Given the description of an element on the screen output the (x, y) to click on. 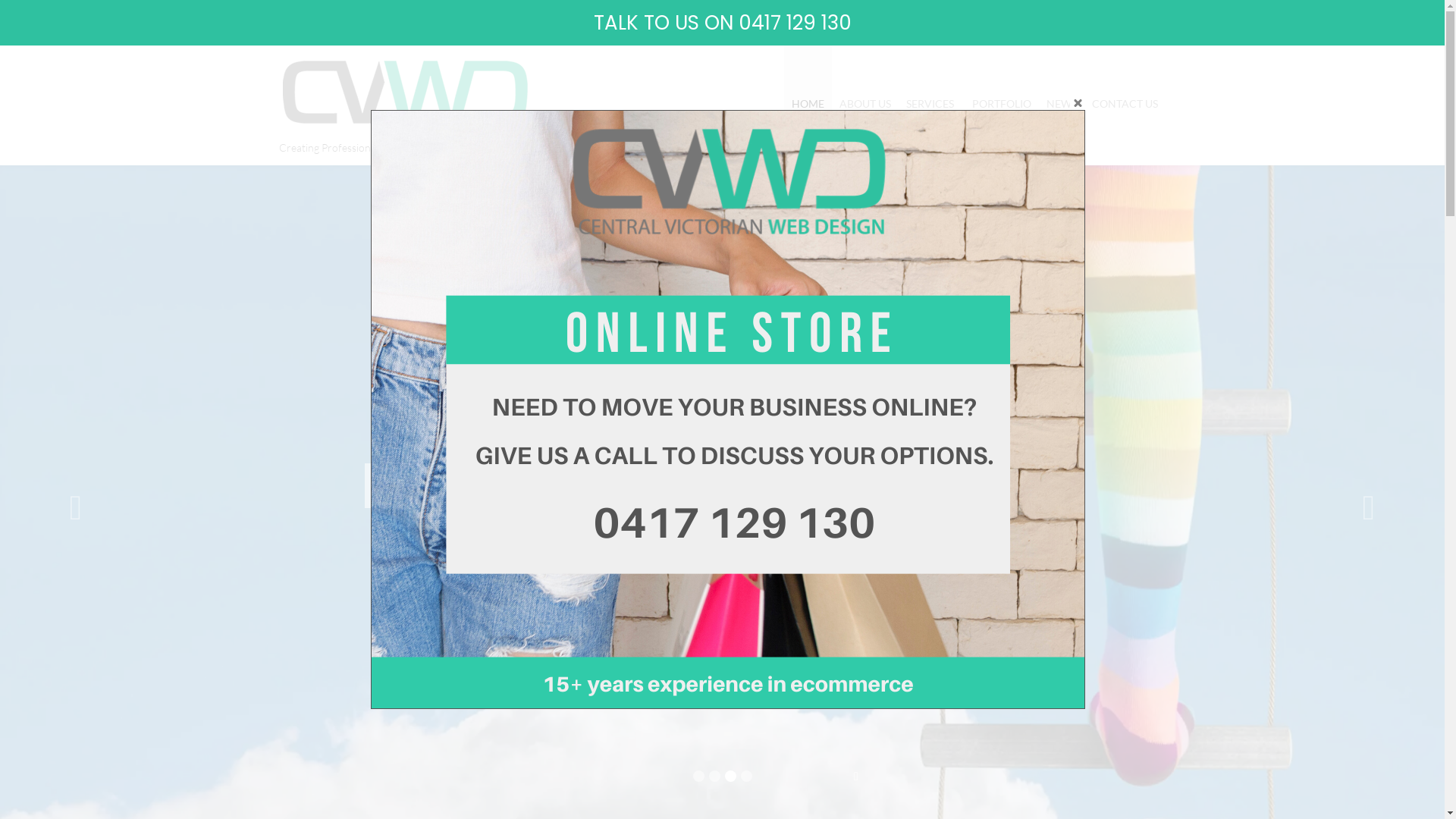
PORTFOLIO Element type: text (1001, 103)
NEWS Element type: text (1061, 103)
SERVICES Element type: text (931, 103)
CONTACT US Element type: text (1124, 103)
HOME Element type: text (807, 103)
ABOUT US Element type: text (864, 103)
